Given the description of an element on the screen output the (x, y) to click on. 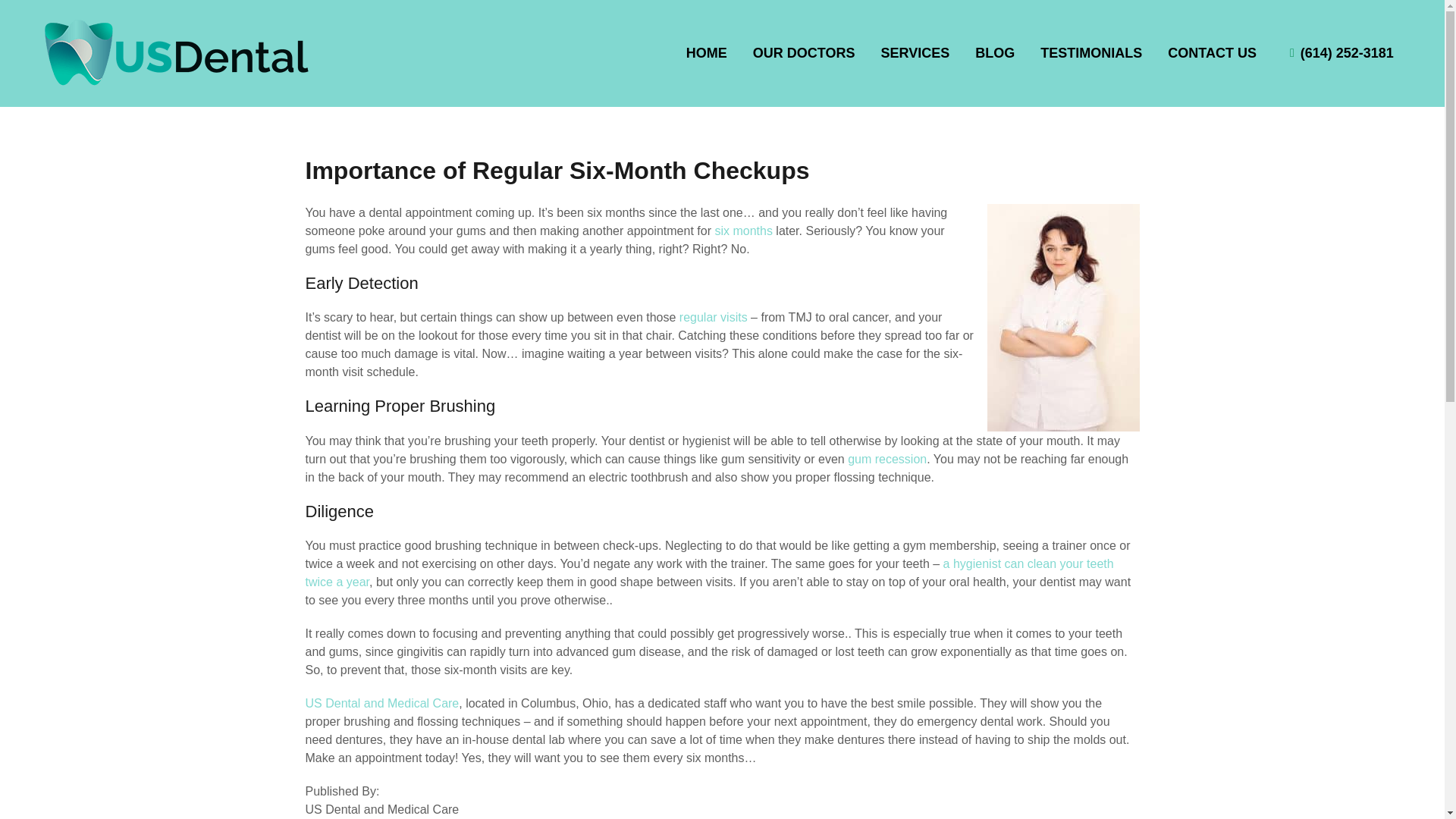
SERVICES (915, 51)
six months (742, 230)
regular visits (713, 317)
a hygienist can clean your teeth twice a year (708, 572)
TESTIMONIALS (1091, 51)
gum recession (886, 459)
US Dental and Medical Care (381, 703)
CONTACT US (1211, 51)
OUR DOCTORS (804, 51)
